Given the description of an element on the screen output the (x, y) to click on. 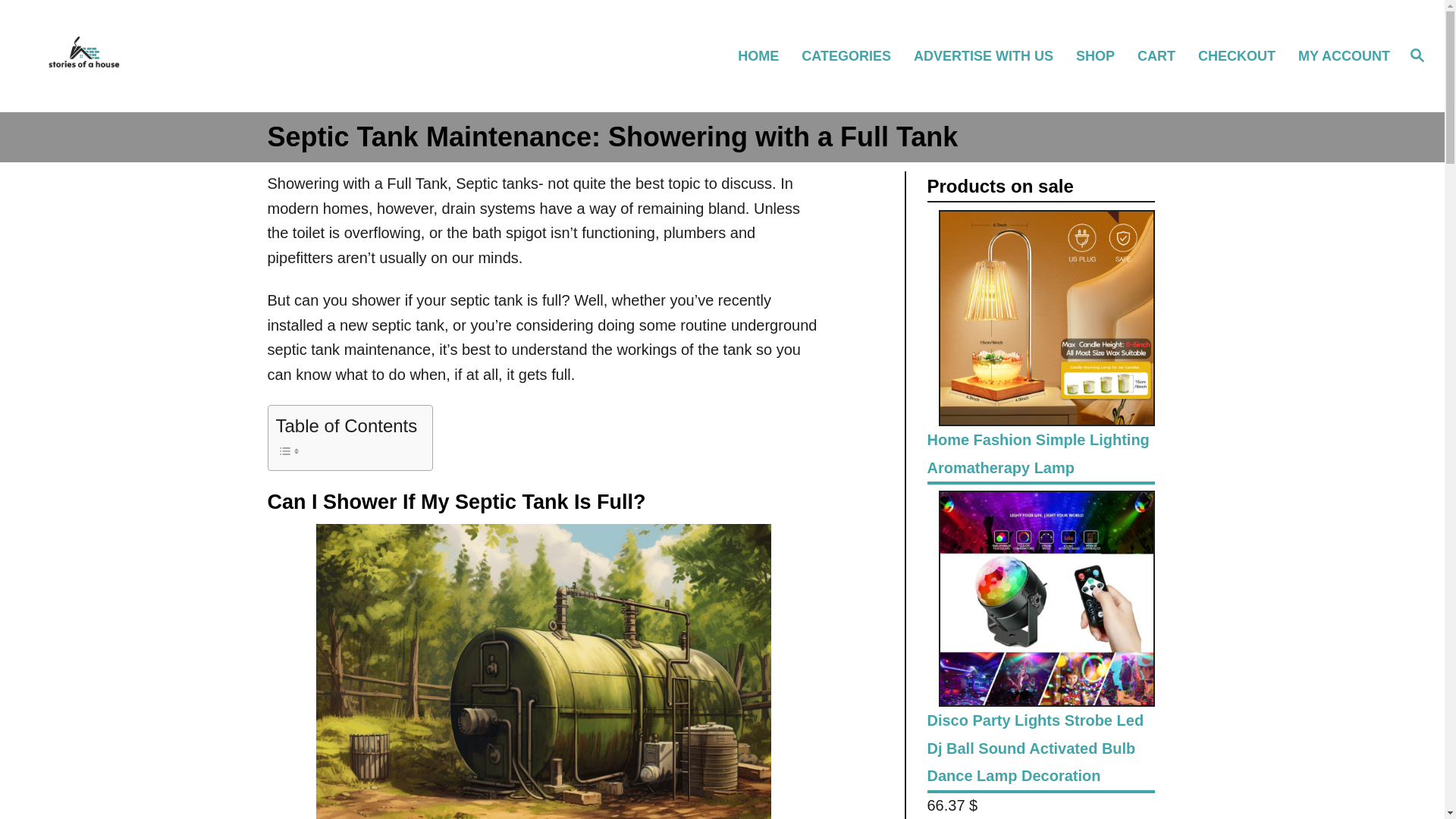
MY ACCOUNT (1342, 55)
HOME (764, 55)
CATEGORIES (852, 55)
Stories of a House (204, 56)
Magnifying Glass (1416, 54)
CHECKOUT (1243, 55)
ADVERTISE WITH US (989, 55)
CART (1162, 55)
SHOP (1101, 55)
